Given the description of an element on the screen output the (x, y) to click on. 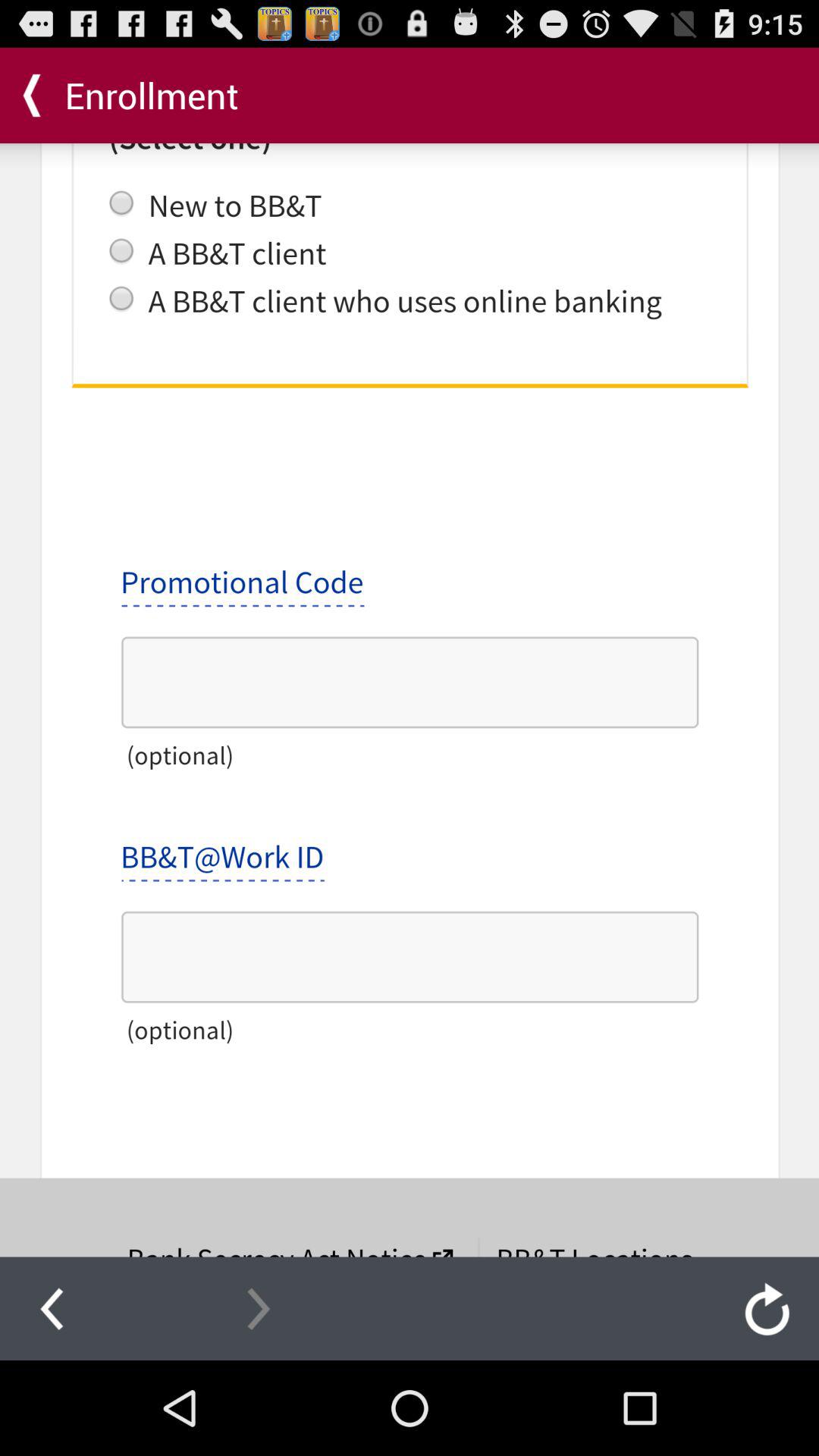
go back (51, 1308)
